Given the description of an element on the screen output the (x, y) to click on. 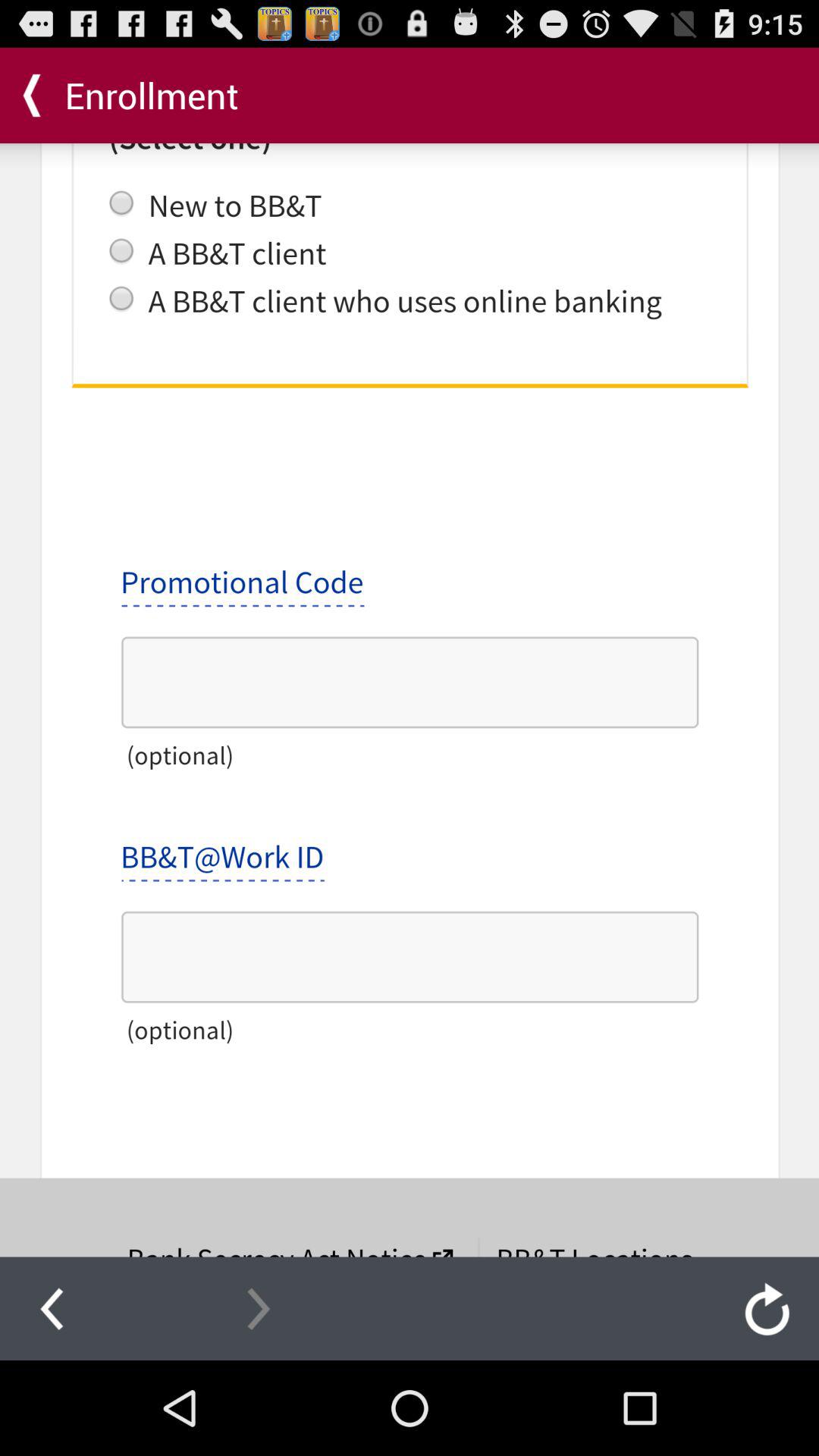
go back (51, 1308)
